Given the description of an element on the screen output the (x, y) to click on. 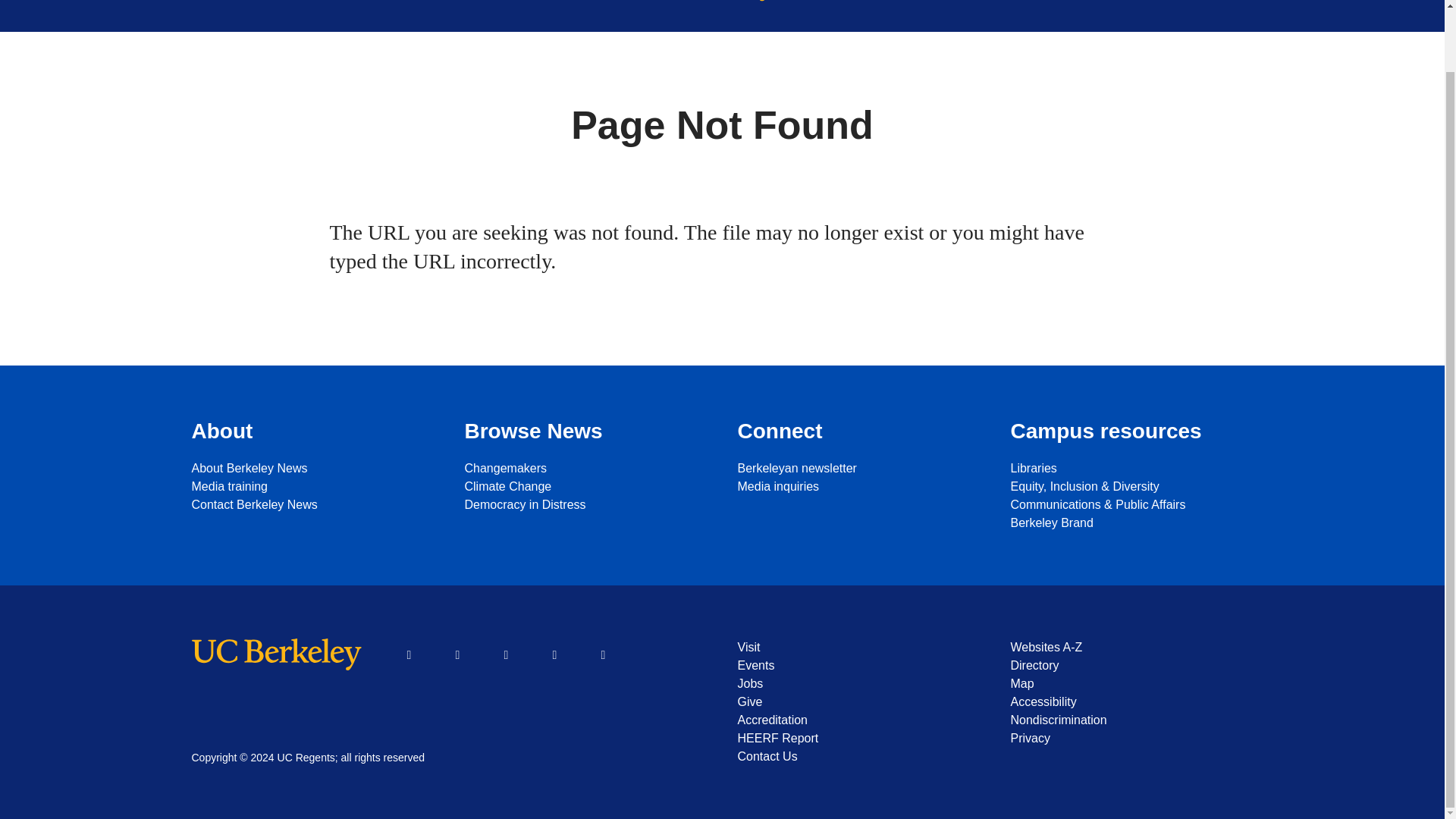
About Berkeley News (311, 468)
HEERF Report (857, 738)
Libraries (1131, 468)
Contact Berkeley News (311, 505)
Contact Us (857, 756)
Climate Change (585, 486)
Events (857, 665)
Map (1131, 683)
Media inquiries (857, 486)
Websites A-Z (1131, 647)
